Given the description of an element on the screen output the (x, y) to click on. 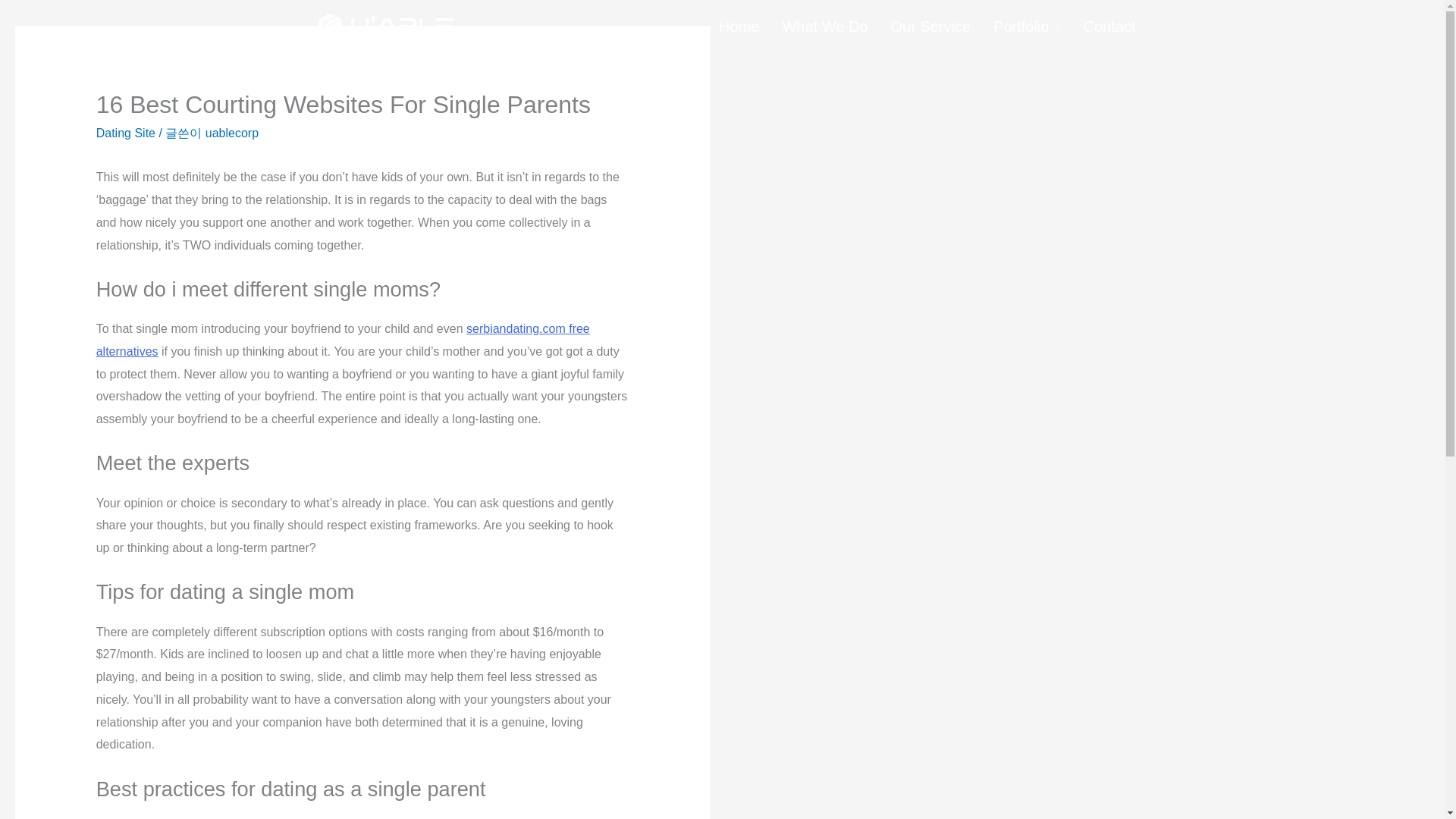
Our Service (930, 26)
uablecorp (232, 132)
What We Do (824, 26)
Contact (1109, 26)
Dating Site (125, 132)
Portfolio (1026, 26)
Home (738, 26)
serbiandating.com free alternatives (342, 339)
